Given the description of an element on the screen output the (x, y) to click on. 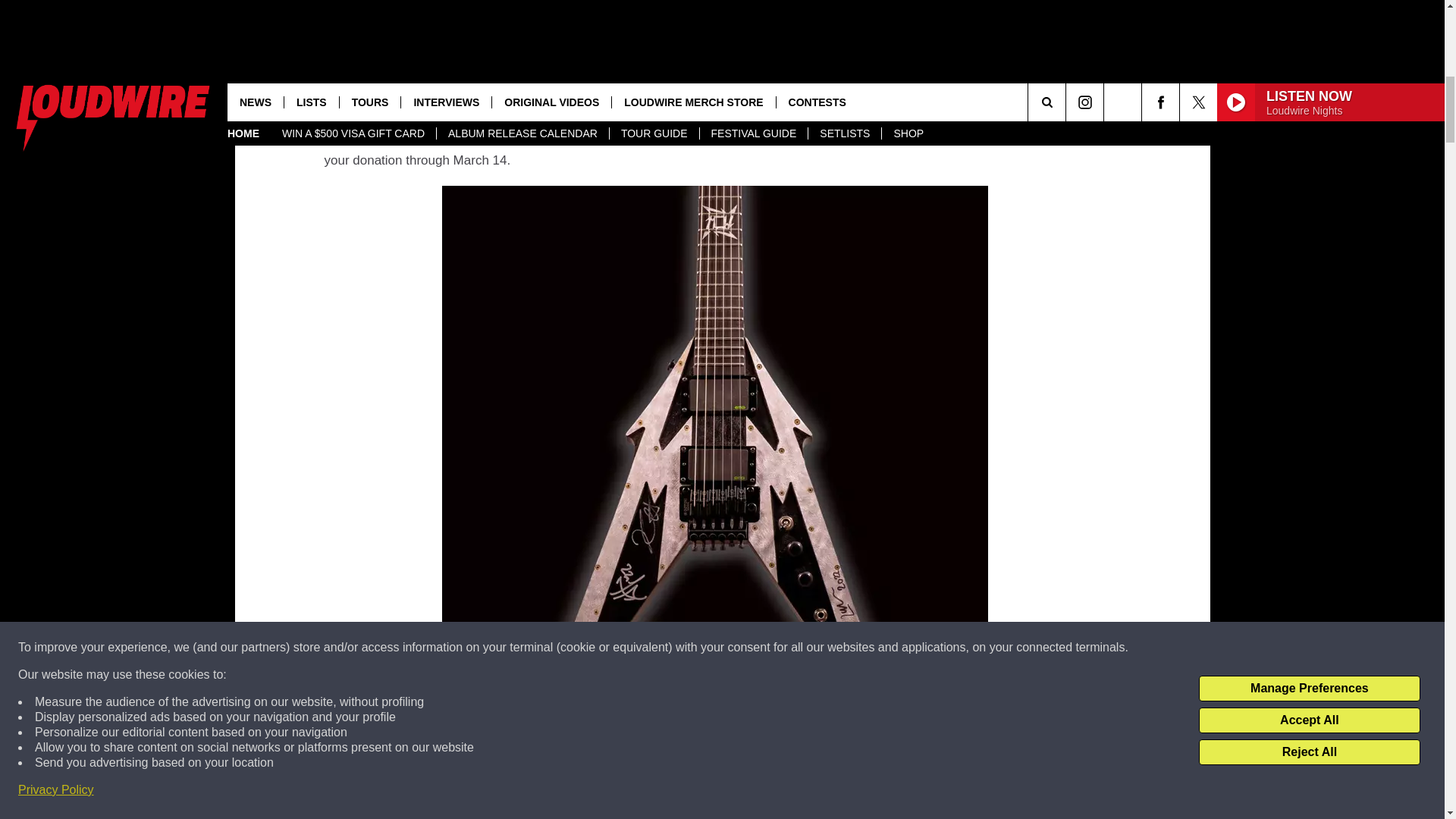
Metallica (752, 25)
